Given the description of an element on the screen output the (x, y) to click on. 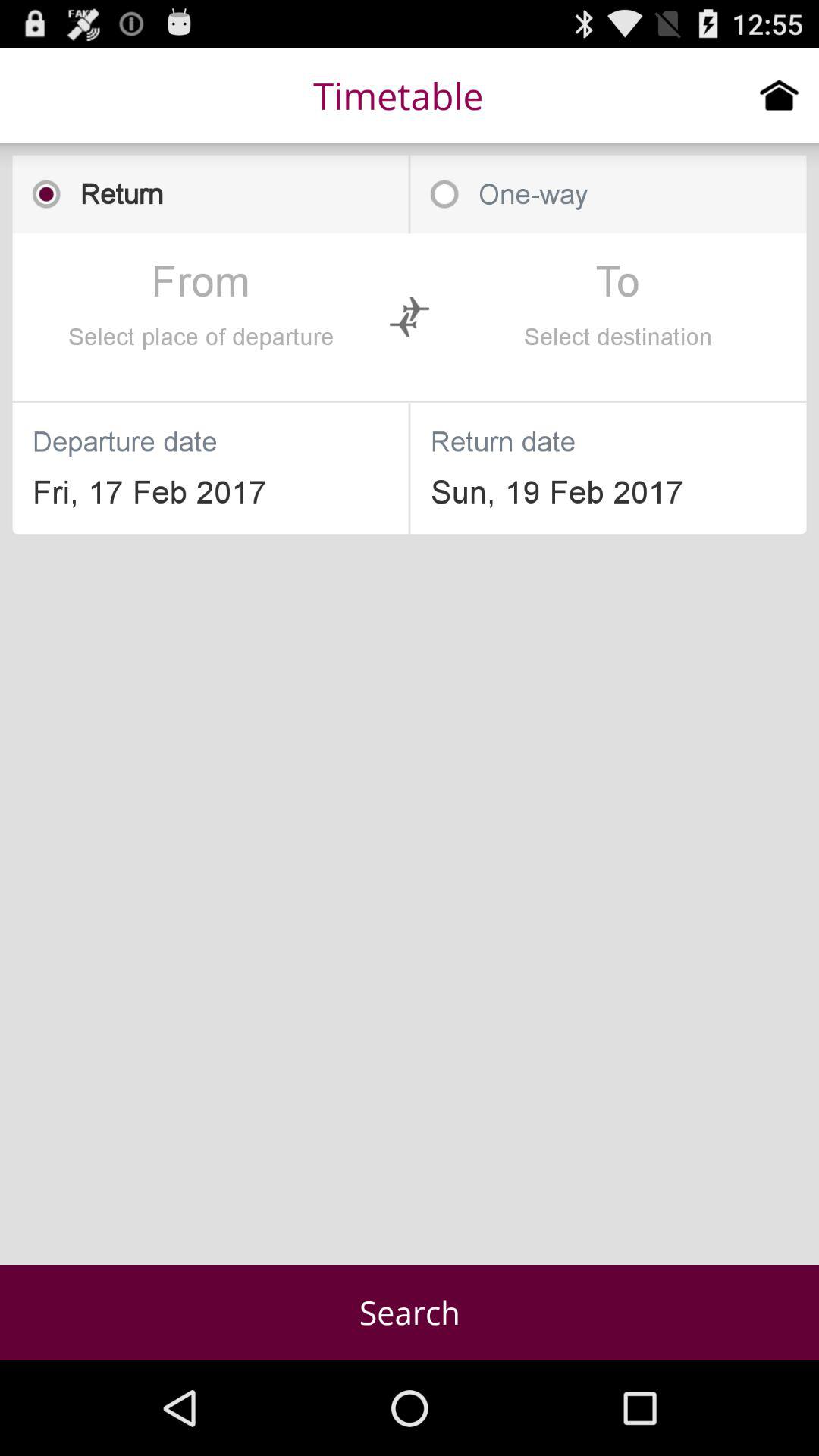
return to homepage (779, 95)
